Given the description of an element on the screen output the (x, y) to click on. 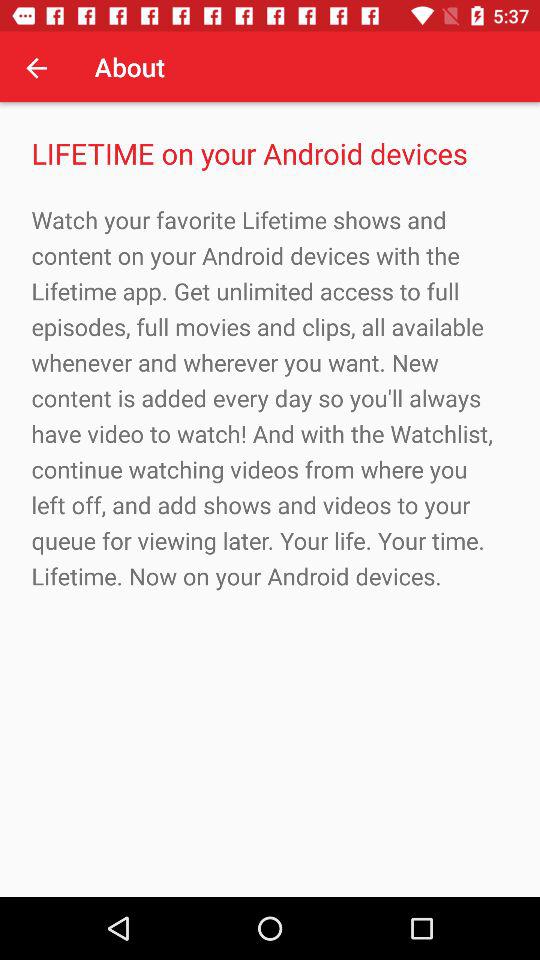
launch the item above the lifetime on your icon (36, 67)
